Given the description of an element on the screen output the (x, y) to click on. 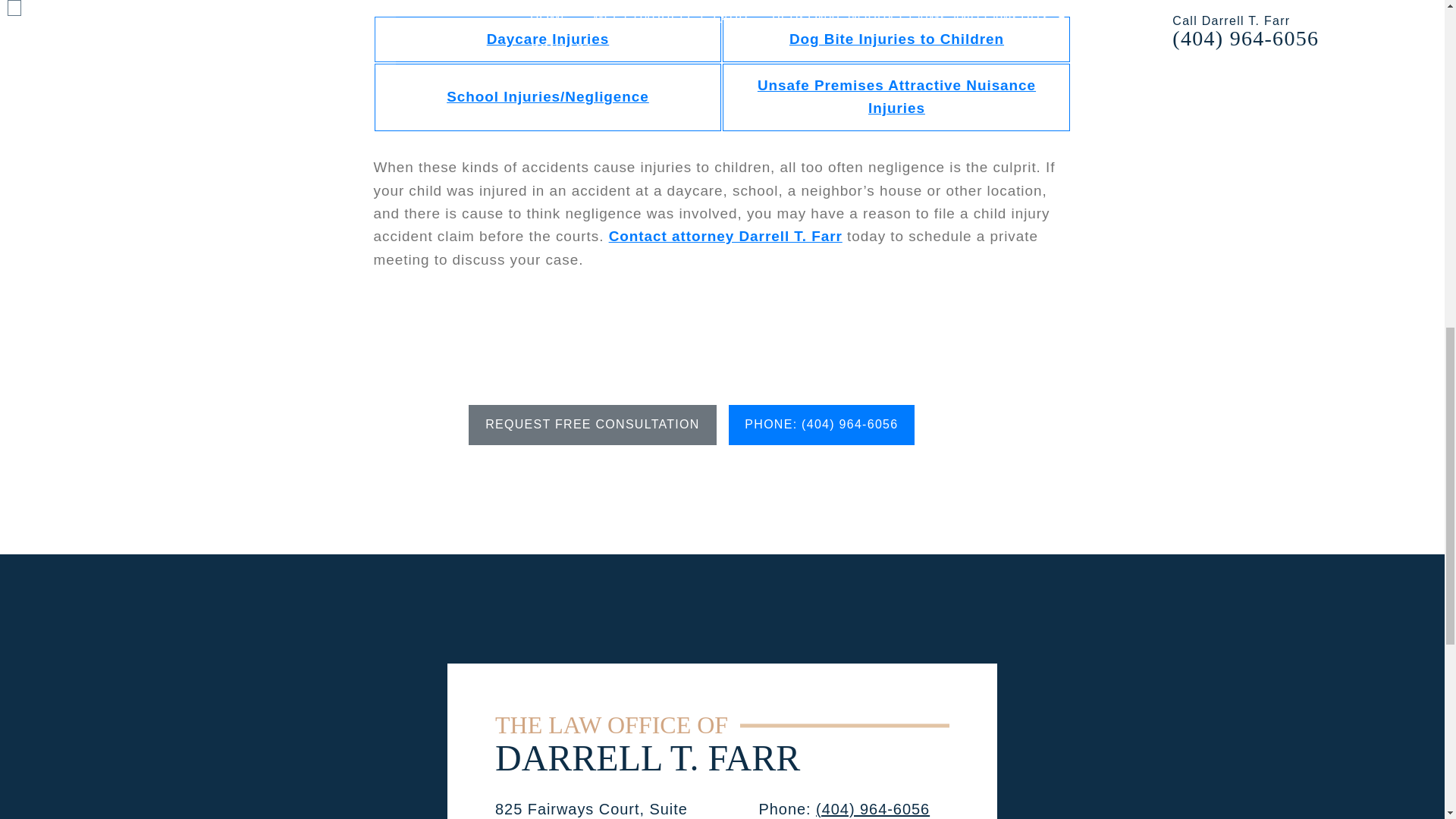
Contact the Law Office of Darrell T. Farr in Stockbridge GA (725, 236)
Stockbridge GA Children Dog Bite Injury Lawsuit Lawyers (896, 39)
Unsafe Premises Attractive Nuisance Injuries (896, 97)
REQUEST FREE CONSULTATION (592, 424)
Stockbridge GA Daycare Injury Lawsuit Claims Lawyer (548, 39)
Daycare Injuries (548, 39)
Dog Bite Injuries to Children (896, 39)
Contact attorney Darrell T. Farr (725, 236)
